Given the description of an element on the screen output the (x, y) to click on. 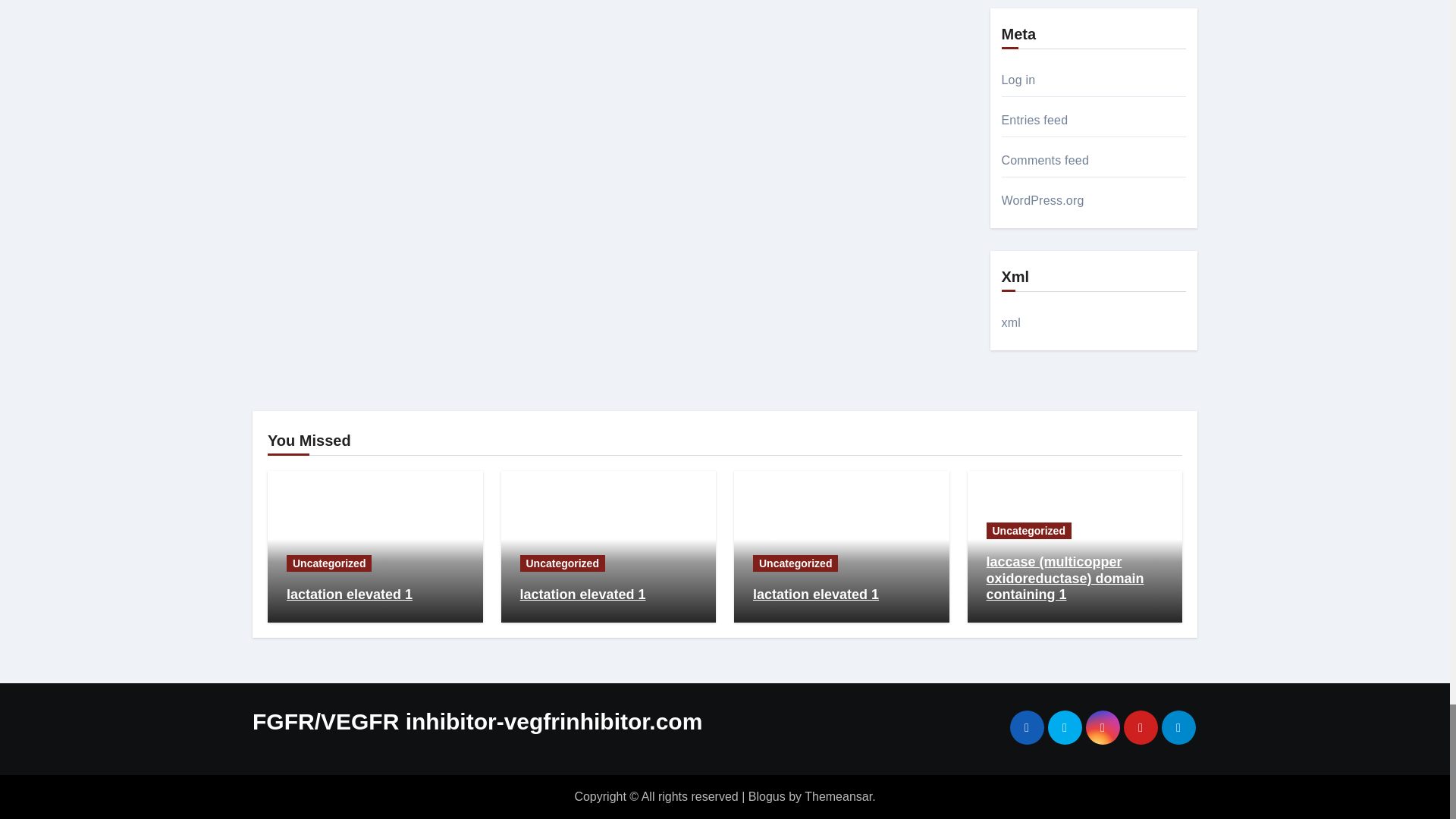
Permalink to: lactation elevated 1 (582, 594)
Permalink to: lactation elevated 1 (349, 594)
Permalink to: lactation elevated 1 (815, 594)
